Given the description of an element on the screen output the (x, y) to click on. 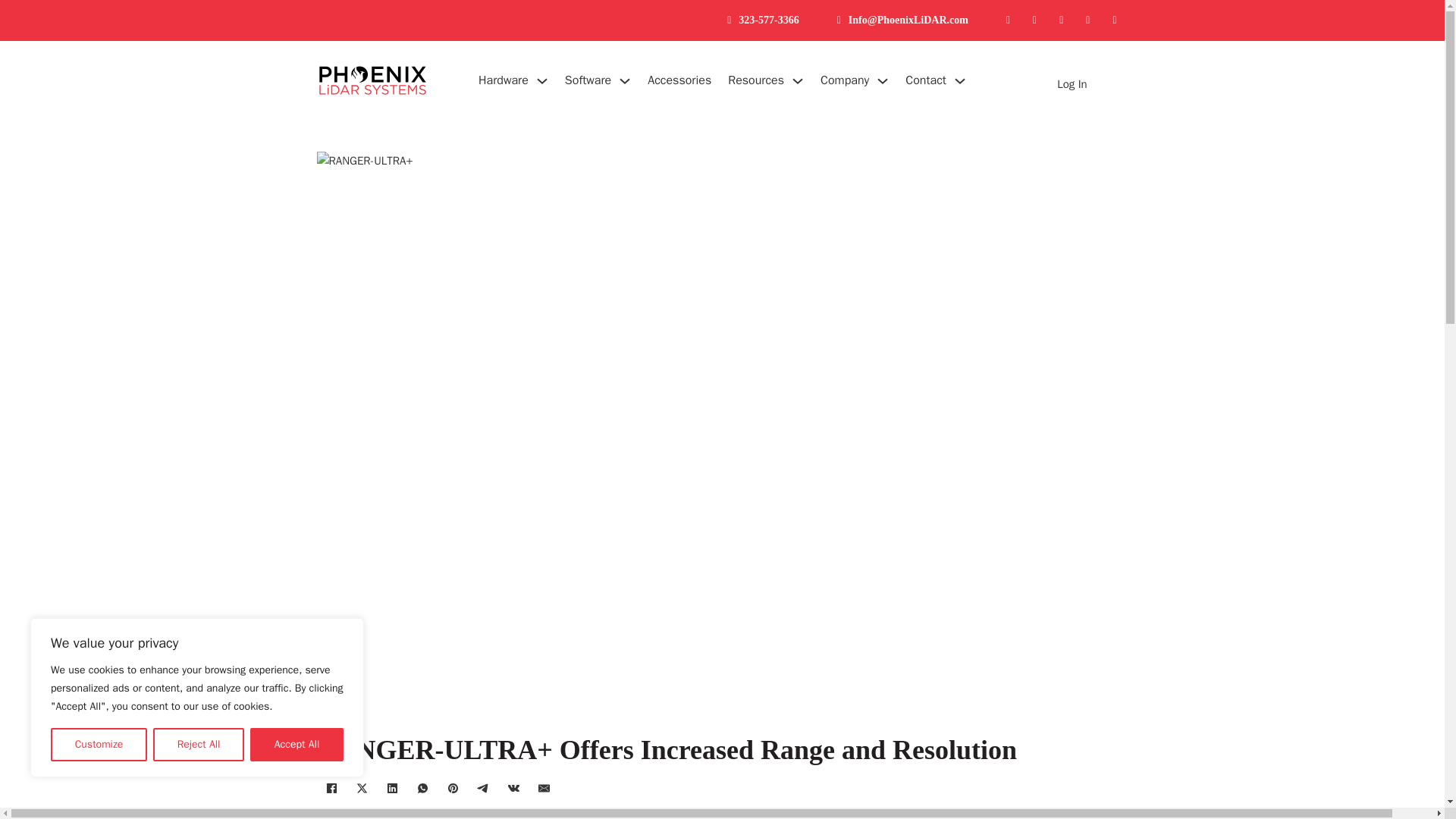
Reject All (198, 744)
Hardware (503, 80)
Accept All (296, 744)
323-577-3366 (762, 20)
Customize (98, 744)
